Given the description of an element on the screen output the (x, y) to click on. 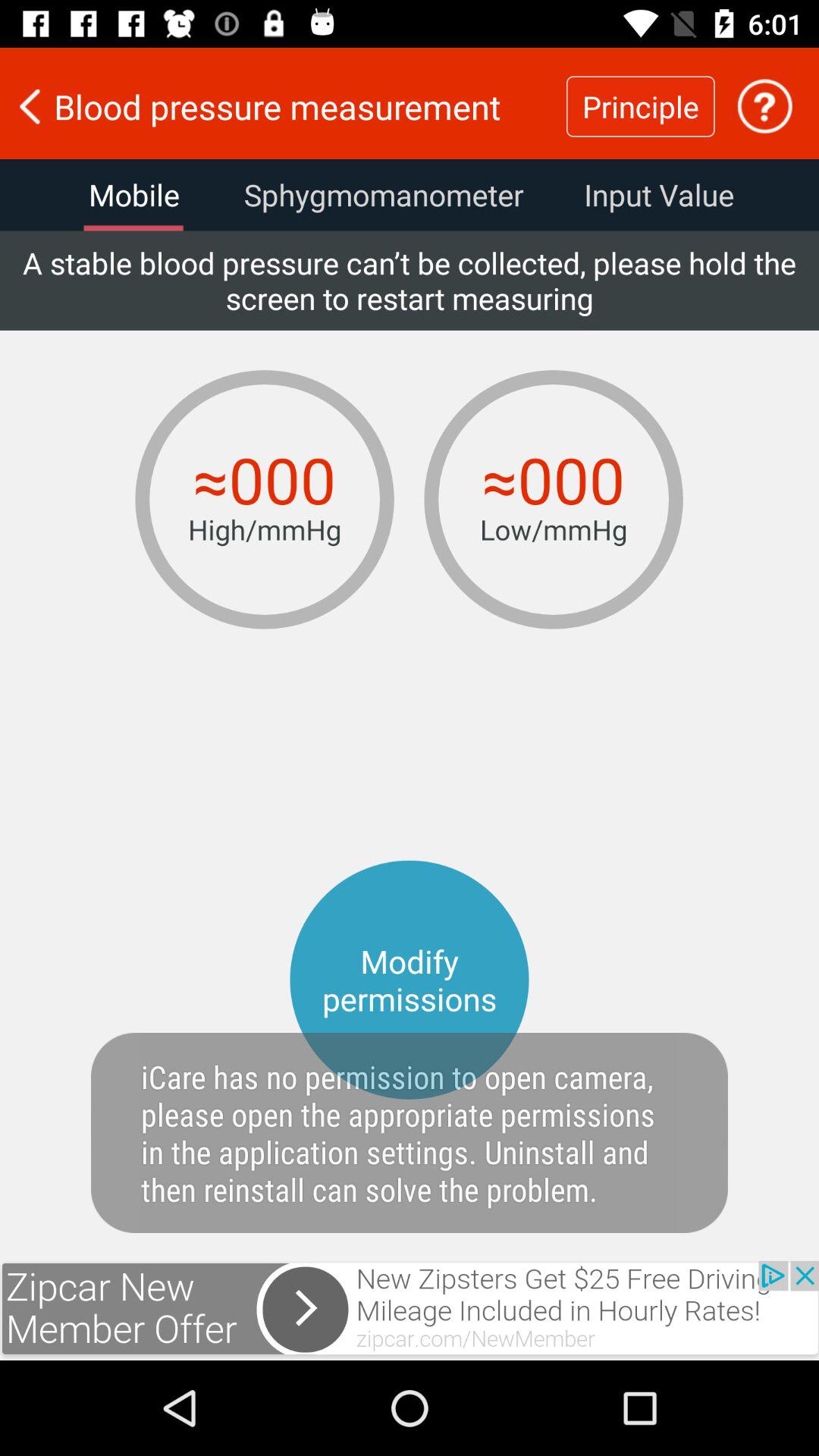
incomplete process (764, 106)
